Given the description of an element on the screen output the (x, y) to click on. 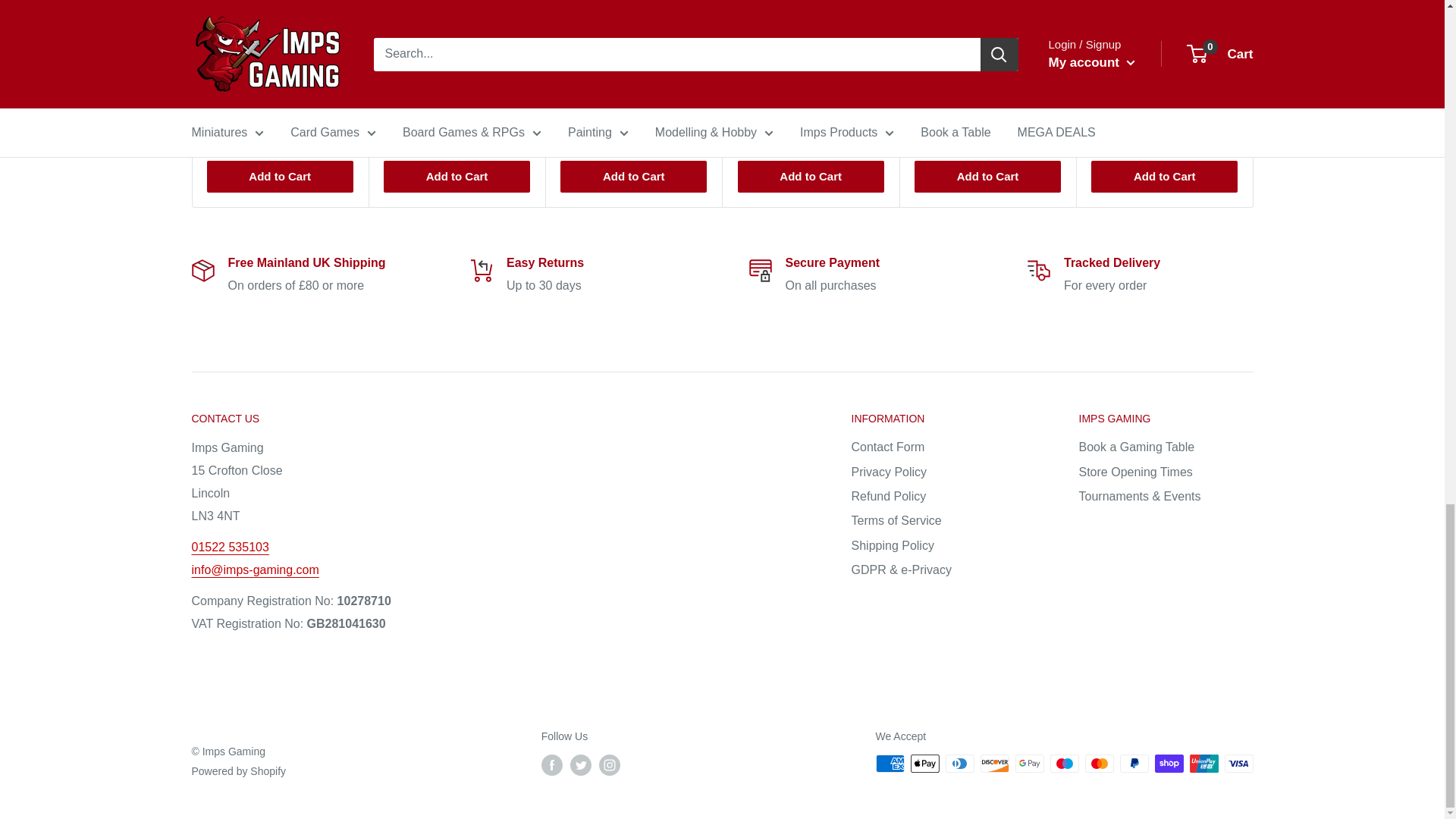
tel:01522535103 (228, 546)
